Given the description of an element on the screen output the (x, y) to click on. 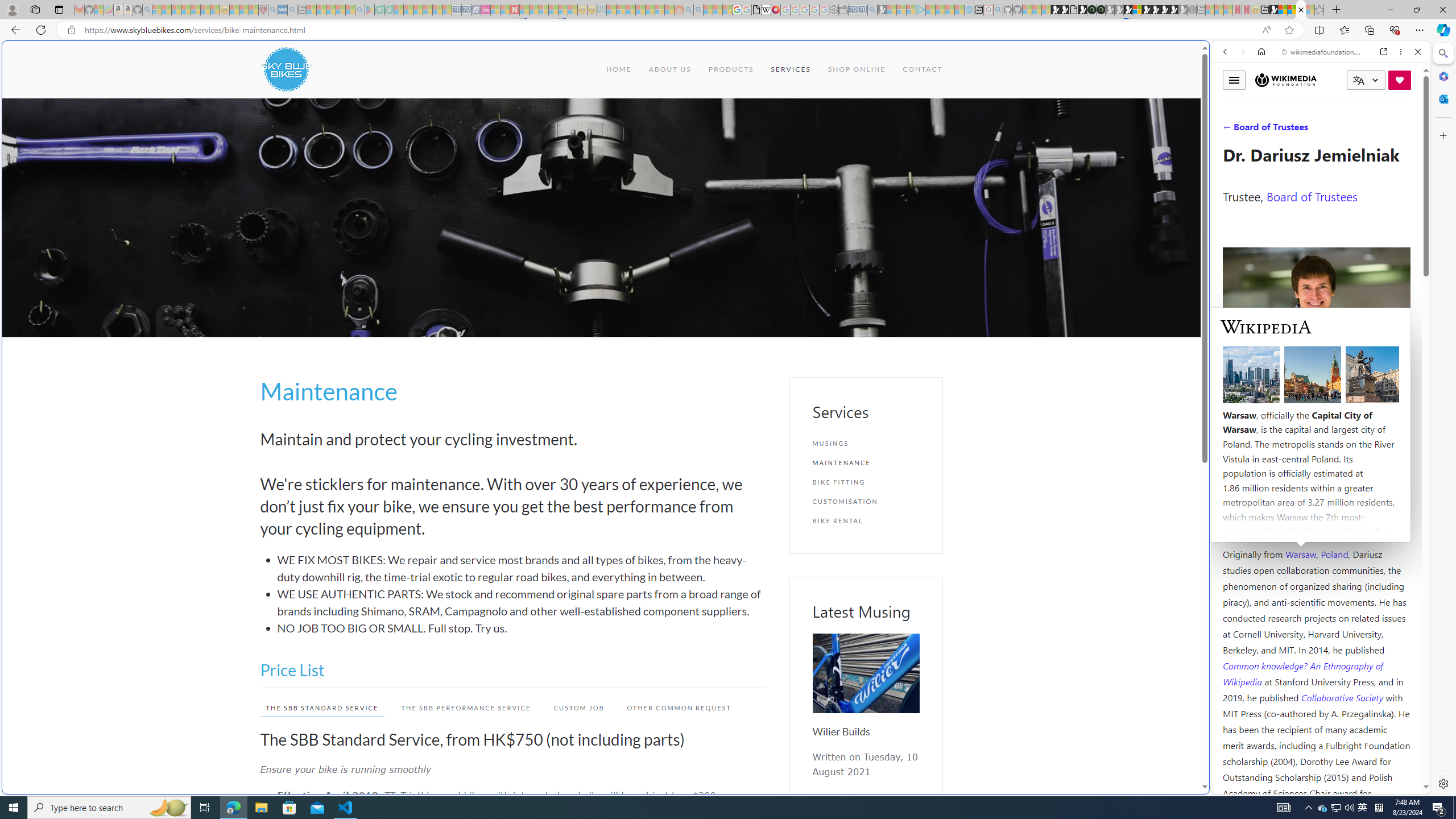
Close split screen (1208, 57)
Sign in to your account (1137, 9)
Expert Portfolios - Sleeping (639, 9)
WEB   (1230, 130)
Wilier Builds (841, 730)
IMAGES (1262, 130)
SHOP ONLINE (855, 68)
Target page - Wikipedia (766, 9)
